Given the description of an element on the screen output the (x, y) to click on. 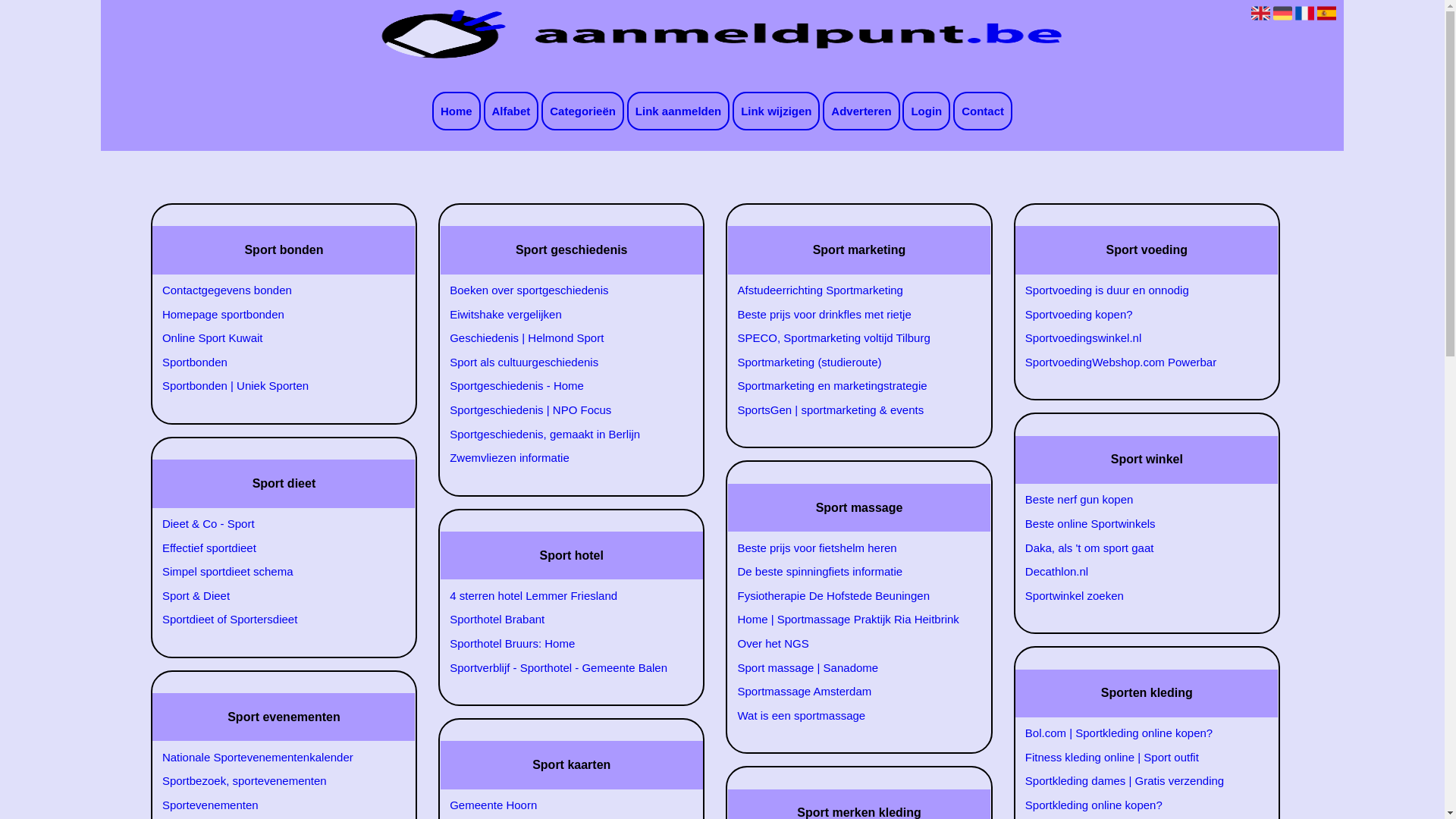
Beste nerf gun kopen Element type: text (1137, 499)
Sportmarketing en marketingstrategie Element type: text (849, 385)
Sportmassage Amsterdam Element type: text (849, 691)
Sportvoeding is duur en onnodig Element type: text (1137, 290)
SPECO, Sportmarketing voltijd Tilburg Element type: text (849, 338)
Sportmarketing (studieroute) Element type: text (849, 362)
Gemeente Hoorn Element type: text (562, 805)
Sportdieet of Sportersdieet Element type: text (274, 619)
Fitness kleding online | Sport outfit Element type: text (1137, 757)
Sportbonden | Uniek Sporten Element type: text (274, 385)
Login Element type: text (926, 110)
SportvoedingWebshop.com Powerbar Element type: text (1137, 362)
Alfabet Element type: text (511, 110)
Online Sport Kuwait Element type: text (274, 338)
Bol.com | Sportkleding online kopen? Element type: text (1137, 733)
Sport & Dieet Element type: text (274, 595)
Sportwinkel zoeken Element type: text (1137, 595)
Sportkleding online kopen? Element type: text (1137, 805)
Zwemvliezen informatie Element type: text (562, 457)
Dieet & Co - Sport Element type: text (274, 523)
4 sterren hotel Lemmer Friesland Element type: text (562, 595)
Sportverblijf - Sporthotel - Gemeente Balen Element type: text (562, 667)
De beste spinningfiets informatie Element type: text (849, 571)
Beste prijs voor fietshelm heren Element type: text (849, 548)
Decathlon.nl Element type: text (1137, 571)
Sportvoeding kopen? Element type: text (1137, 314)
Sportevenementen Element type: text (274, 805)
Sporthotel Bruurs: Home Element type: text (562, 643)
Contactgegevens bonden Element type: text (274, 290)
Link wijzigen Element type: text (775, 110)
Sporthotel Brabant Element type: text (562, 619)
Sportvoedingswinkel.nl Element type: text (1137, 338)
Beste prijs voor drinkfles met rietje Element type: text (849, 314)
Fysiotherapie De Hofstede Beuningen Element type: text (849, 595)
Geschiedenis | Helmond Sport Element type: text (562, 338)
Sportkleding dames | Gratis verzending Element type: text (1137, 780)
Link aanmelden Element type: text (678, 110)
Sportgeschiedenis, gemaakt in Berlijn Element type: text (562, 434)
Simpel sportdieet schema Element type: text (274, 571)
Nationale Sportevenementenkalender Element type: text (274, 757)
Over het NGS Element type: text (849, 643)
Sportgeschiedenis | NPO Focus Element type: text (562, 410)
SportsGen | sportmarketing & events Element type: text (849, 410)
Contact Element type: text (982, 110)
Sportbonden Element type: text (274, 362)
Wat is een sportmassage Element type: text (849, 715)
Home Element type: text (456, 110)
Boeken over sportgeschiedenis Element type: text (562, 290)
Afstudeerrichting Sportmarketing Element type: text (849, 290)
Sportbezoek, sportevenementen Element type: text (274, 780)
Sportgeschiedenis - Home Element type: text (562, 385)
Homepage sportbonden Element type: text (274, 314)
Sport massage | Sanadome Element type: text (849, 667)
Sport als cultuurgeschiedenis Element type: text (562, 362)
Beste online Sportwinkels Element type: text (1137, 523)
Daka, als 't om sport gaat Element type: text (1137, 548)
Eiwitshake vergelijken Element type: text (562, 314)
Adverteren Element type: text (860, 110)
Home | Sportmassage Praktijk Ria Heitbrink Element type: text (849, 619)
Effectief sportdieet Element type: text (274, 548)
